Given the description of an element on the screen output the (x, y) to click on. 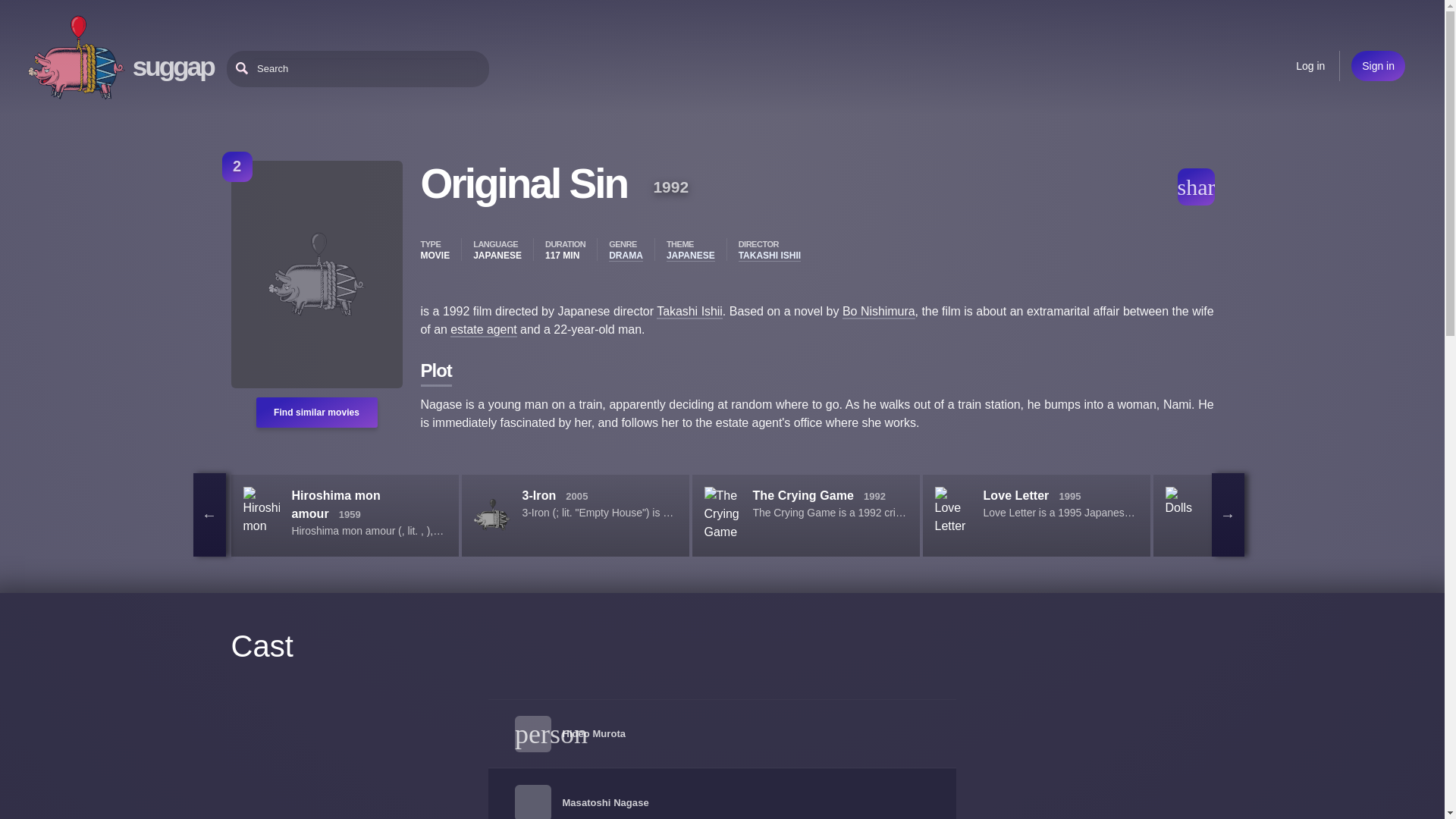
Love Letter (1015, 495)
Takashi Ishii (689, 311)
Bo Nishimura (879, 311)
estate agent (482, 329)
Score (236, 166)
Sign in (1378, 65)
share (1195, 186)
Hiroshima mon amour (335, 504)
suggap (173, 66)
Oink, oink... (76, 57)
